Given the description of an element on the screen output the (x, y) to click on. 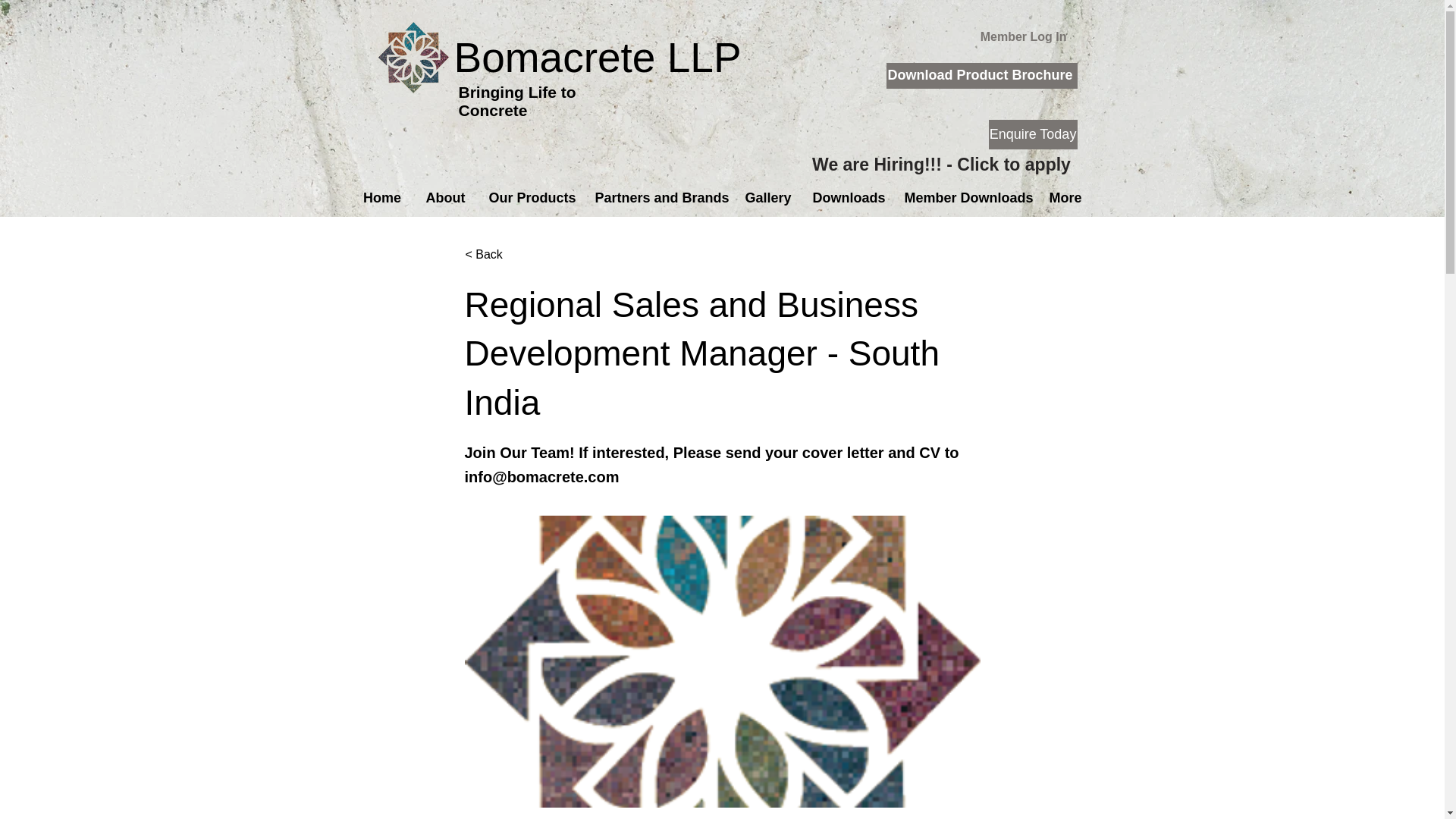
Gallery (767, 198)
Member Downloads (964, 198)
Downloads (846, 198)
We are Hiring!!! - Click to apply (941, 164)
About (445, 198)
Download Product Brochure (981, 75)
Member Log In (1023, 36)
Enquire Today (1032, 134)
Partners and Brands (658, 198)
Our Products (530, 198)
